Given the description of an element on the screen output the (x, y) to click on. 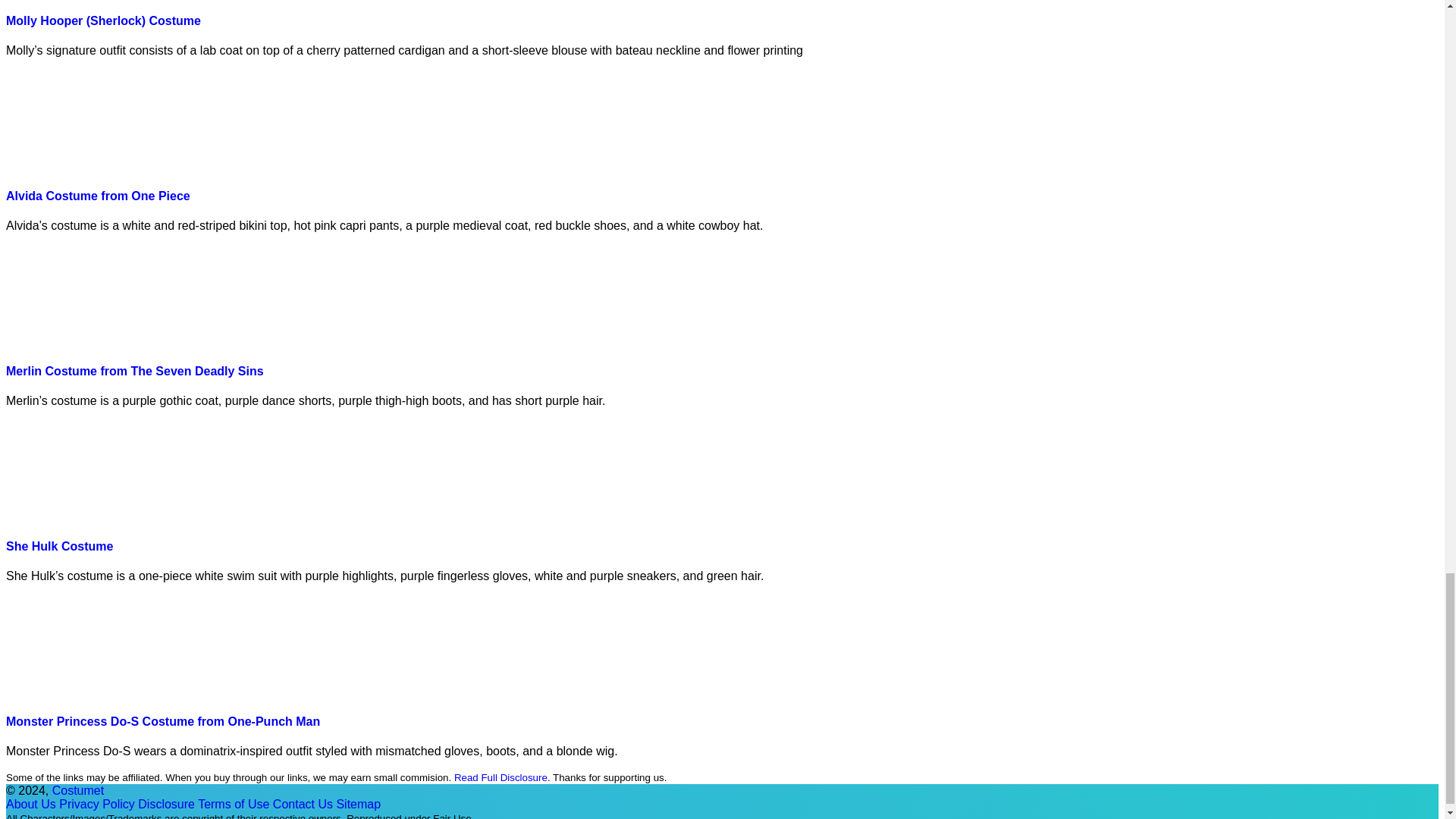
About Us (30, 803)
Disclosure (166, 803)
Alvida Costume from One Piece (97, 195)
Contact Us (303, 803)
Privacy Policy (97, 803)
Terms of Use (233, 803)
